Given the description of an element on the screen output the (x, y) to click on. 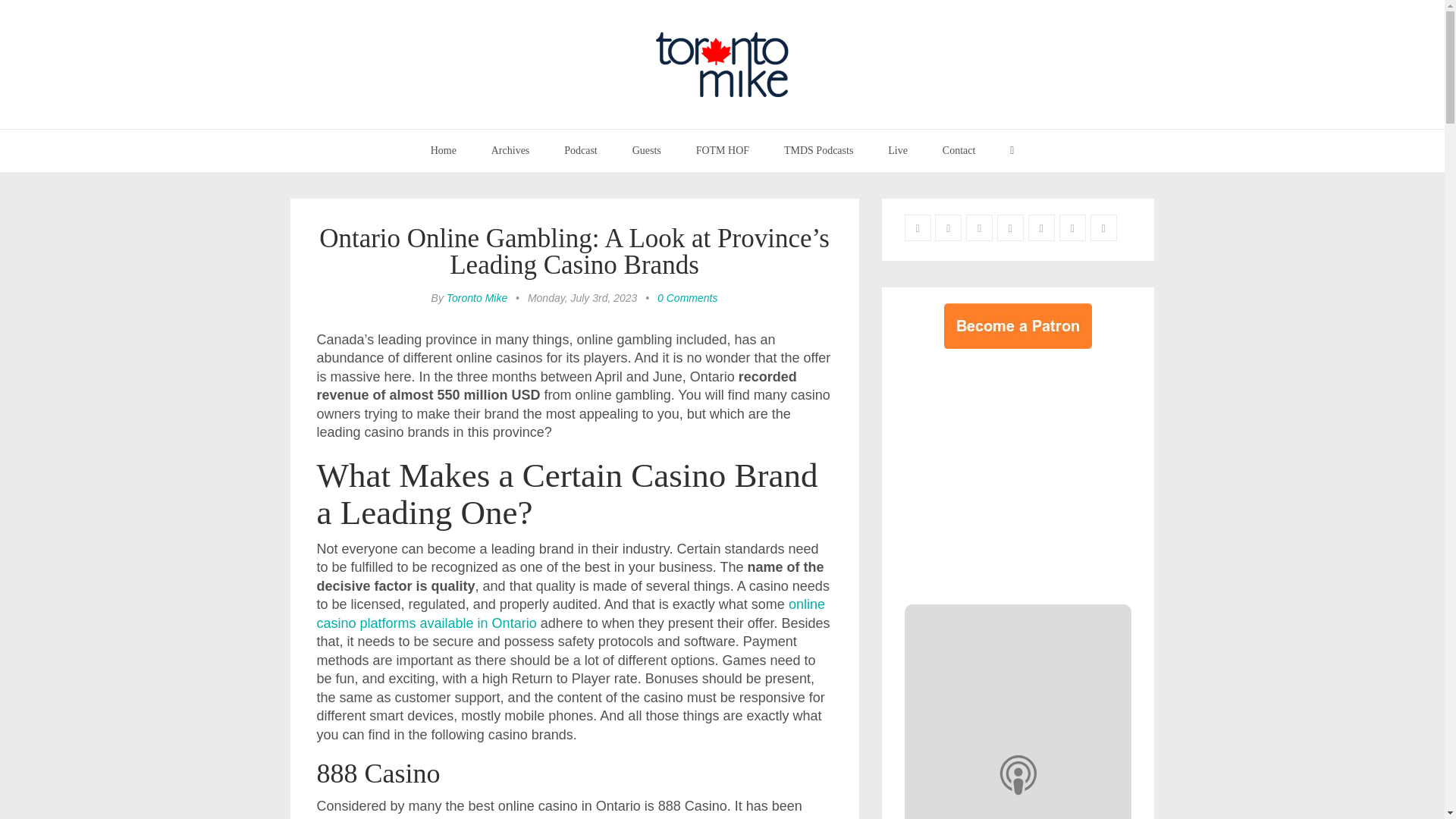
Live (897, 150)
online casino platforms available in Ontario (571, 613)
Archives (511, 150)
Podcast (580, 150)
Contact (958, 150)
TMDS Podcasts (818, 150)
Home (442, 150)
Toronto Mike (476, 297)
0 Comments (687, 297)
Guests (646, 150)
FOTM HOF (722, 150)
